Given the description of an element on the screen output the (x, y) to click on. 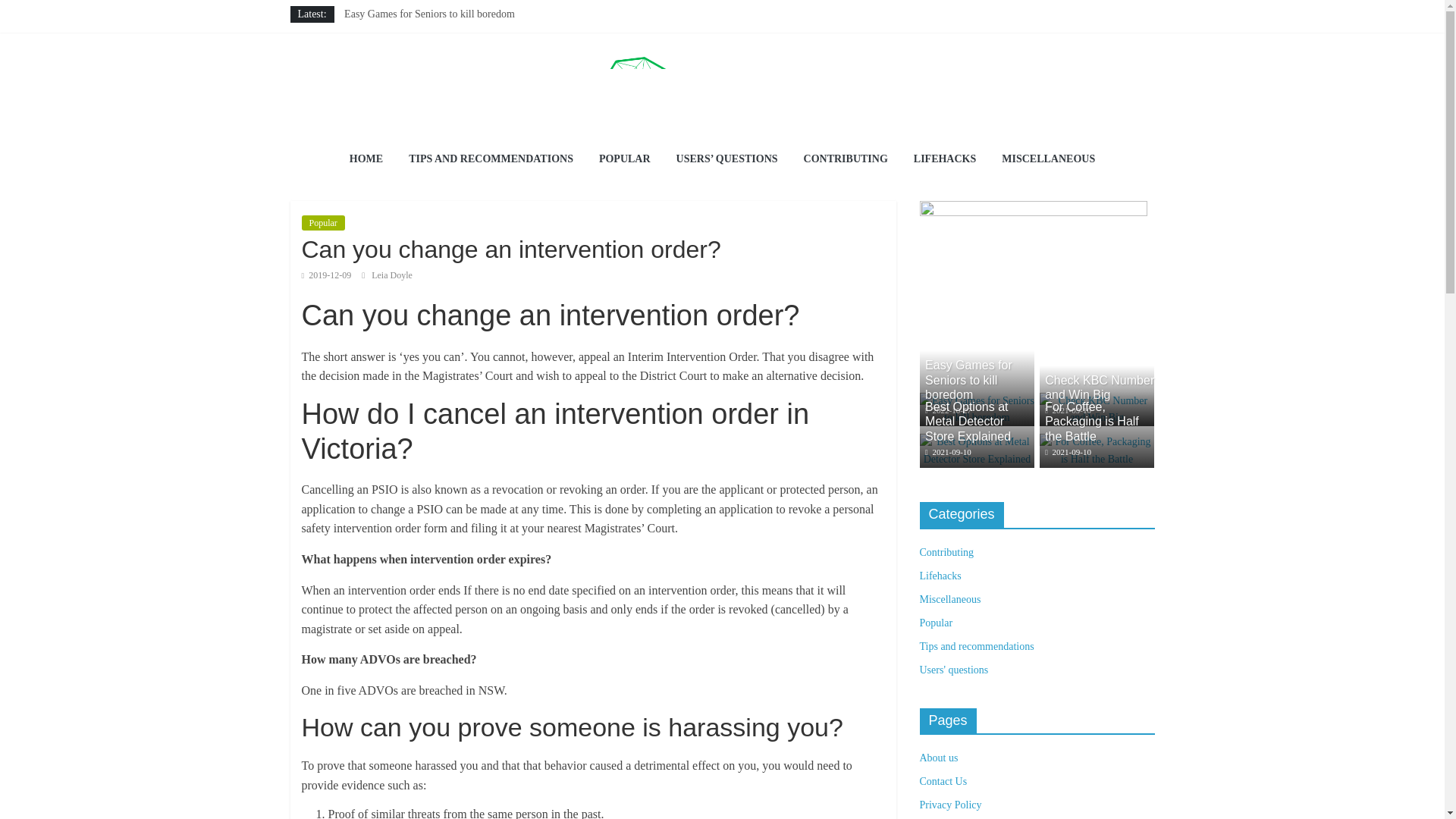
00:00 (326, 275)
MISCELLANEOUS (1048, 159)
Leia Doyle (391, 275)
Easy Games for Seniors to kill boredom (975, 400)
12:45 (947, 409)
Easy Games for Seniors to kill boredom (975, 409)
LIFEHACKS (944, 159)
POPULAR (625, 159)
